Given the description of an element on the screen output the (x, y) to click on. 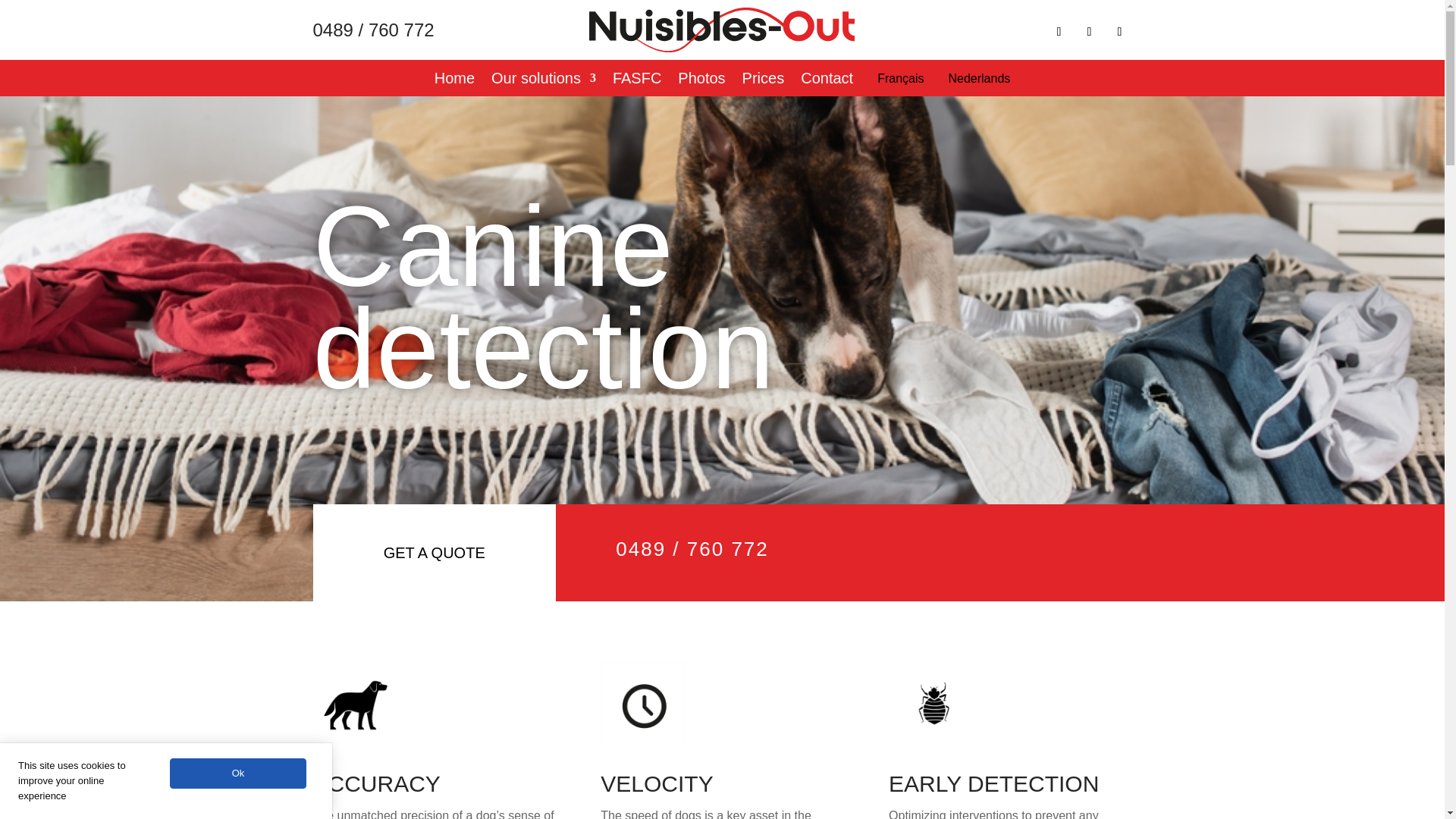
Home (453, 80)
Follow on Facebook (1058, 31)
Our solutions (543, 80)
Contact (826, 80)
Follow on X (1088, 31)
Nederlands (978, 80)
Follow on Pinterest (1118, 31)
Nederlands (978, 80)
FASFC (636, 80)
Prices (763, 80)
Logo fond clair (721, 29)
Photos (701, 80)
